Given the description of an element on the screen output the (x, y) to click on. 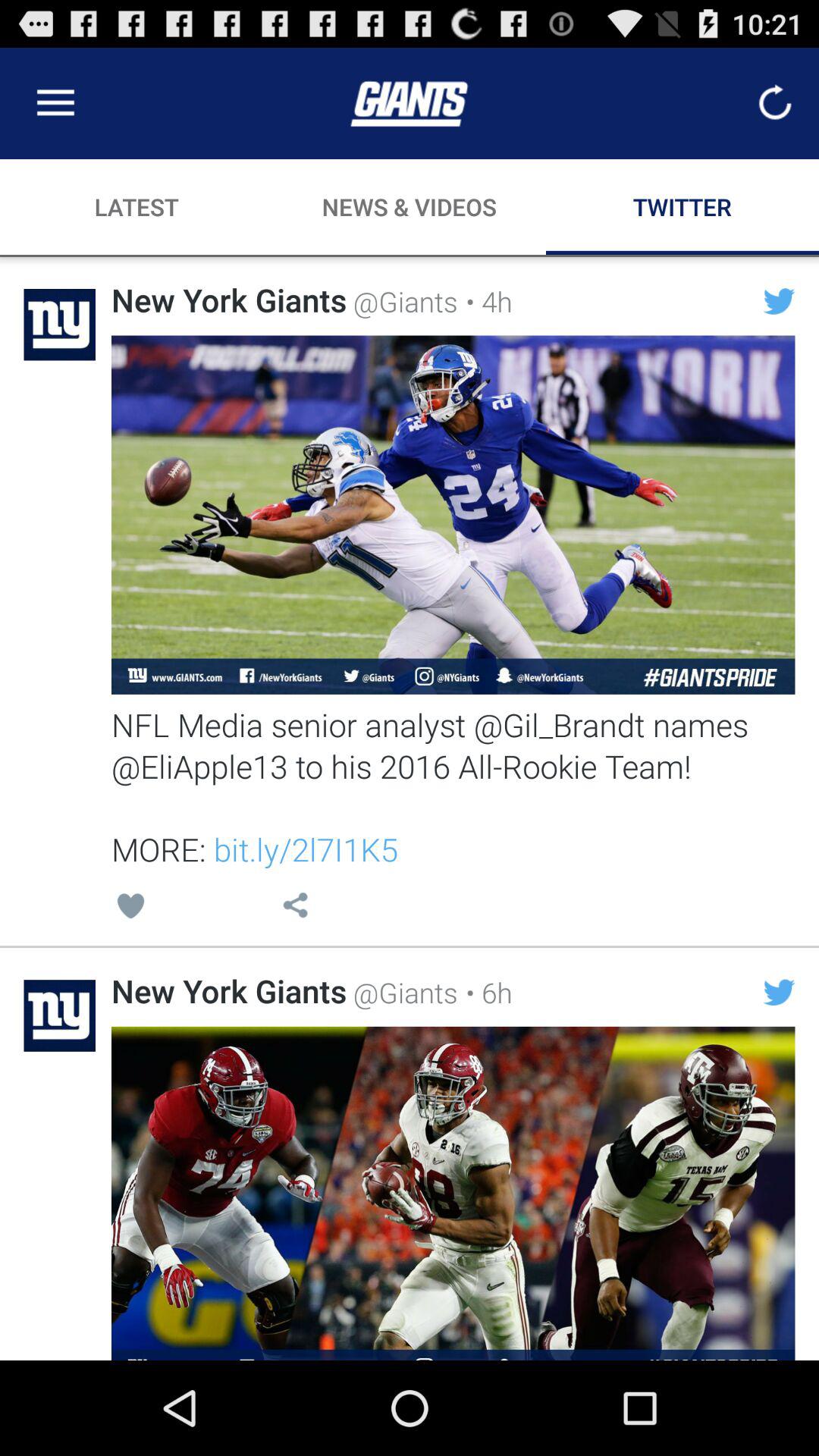
jump until the nfl media senior item (453, 786)
